Given the description of an element on the screen output the (x, y) to click on. 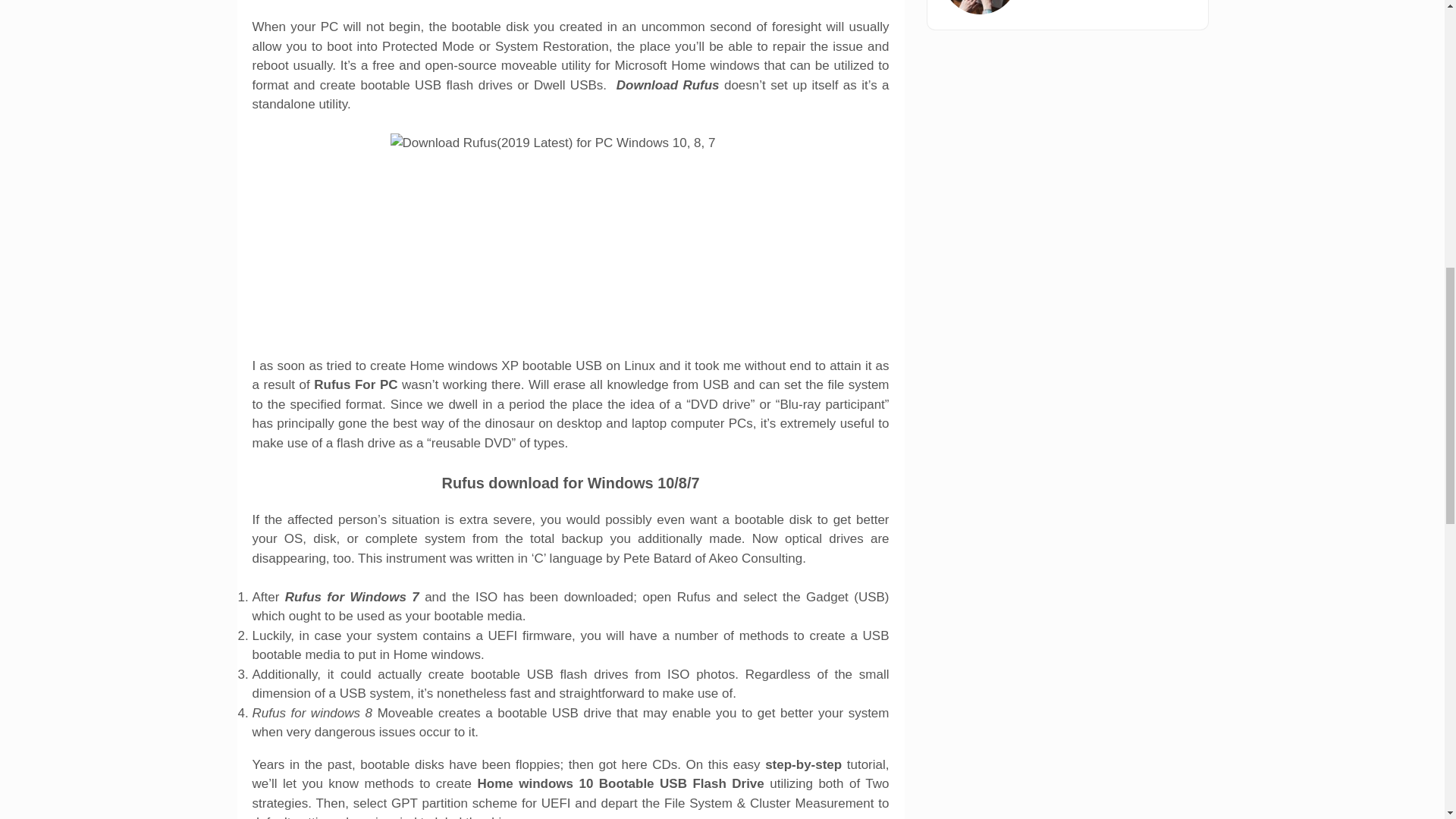
Running Your Own Electronics Accessories Ecommerce Store (979, 7)
